Given the description of an element on the screen output the (x, y) to click on. 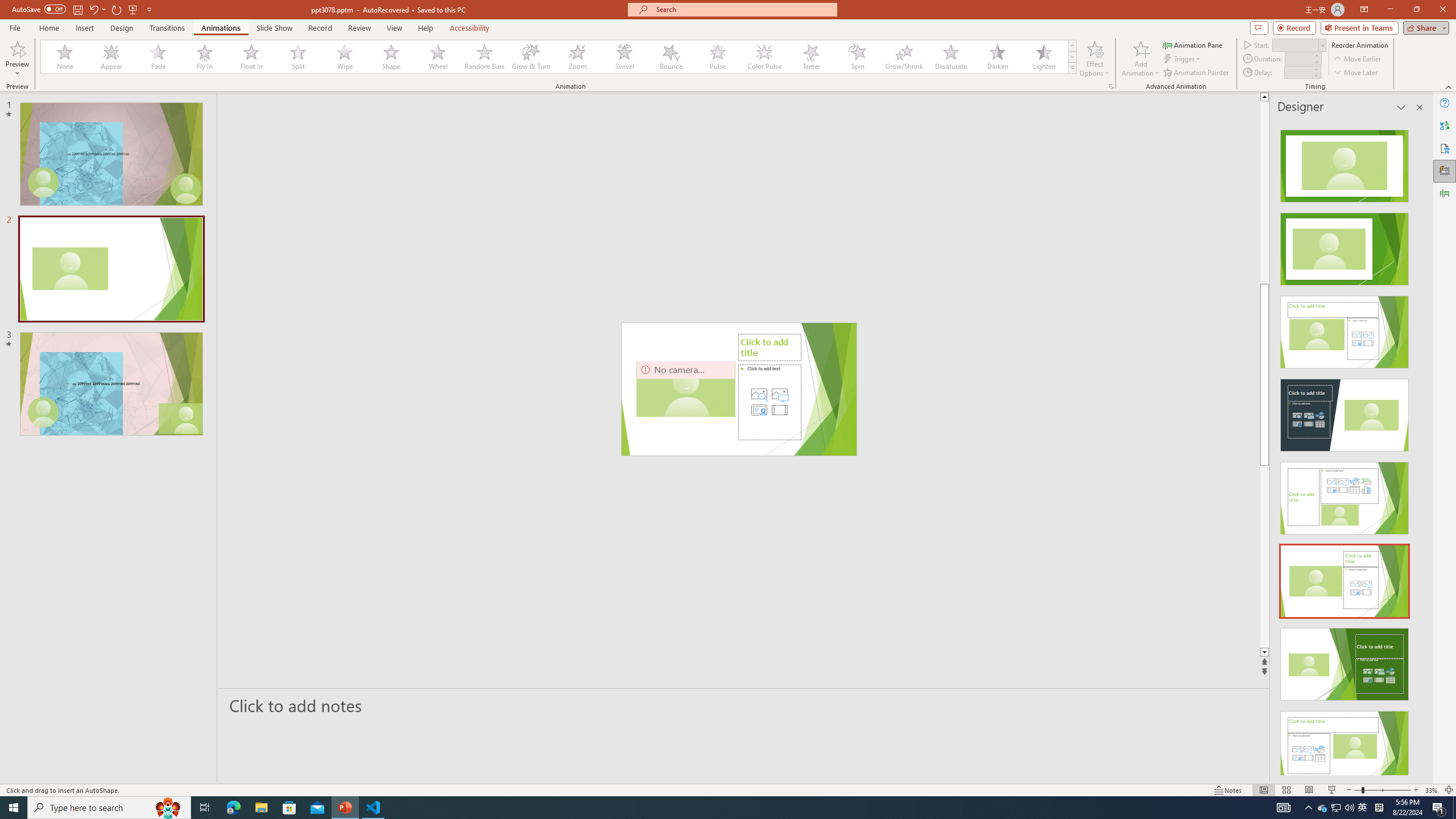
Normal (1263, 790)
Line up (1302, 96)
Camera 3, No camera detected. (685, 388)
Present in Teams (1359, 27)
Share (1423, 27)
Appear (111, 56)
Restore Down (1416, 9)
AutoSave (38, 9)
Preview (17, 48)
Row up (1071, 45)
Redo (117, 9)
From Beginning (133, 9)
Undo (96, 9)
Desaturate (950, 56)
